Given the description of an element on the screen output the (x, y) to click on. 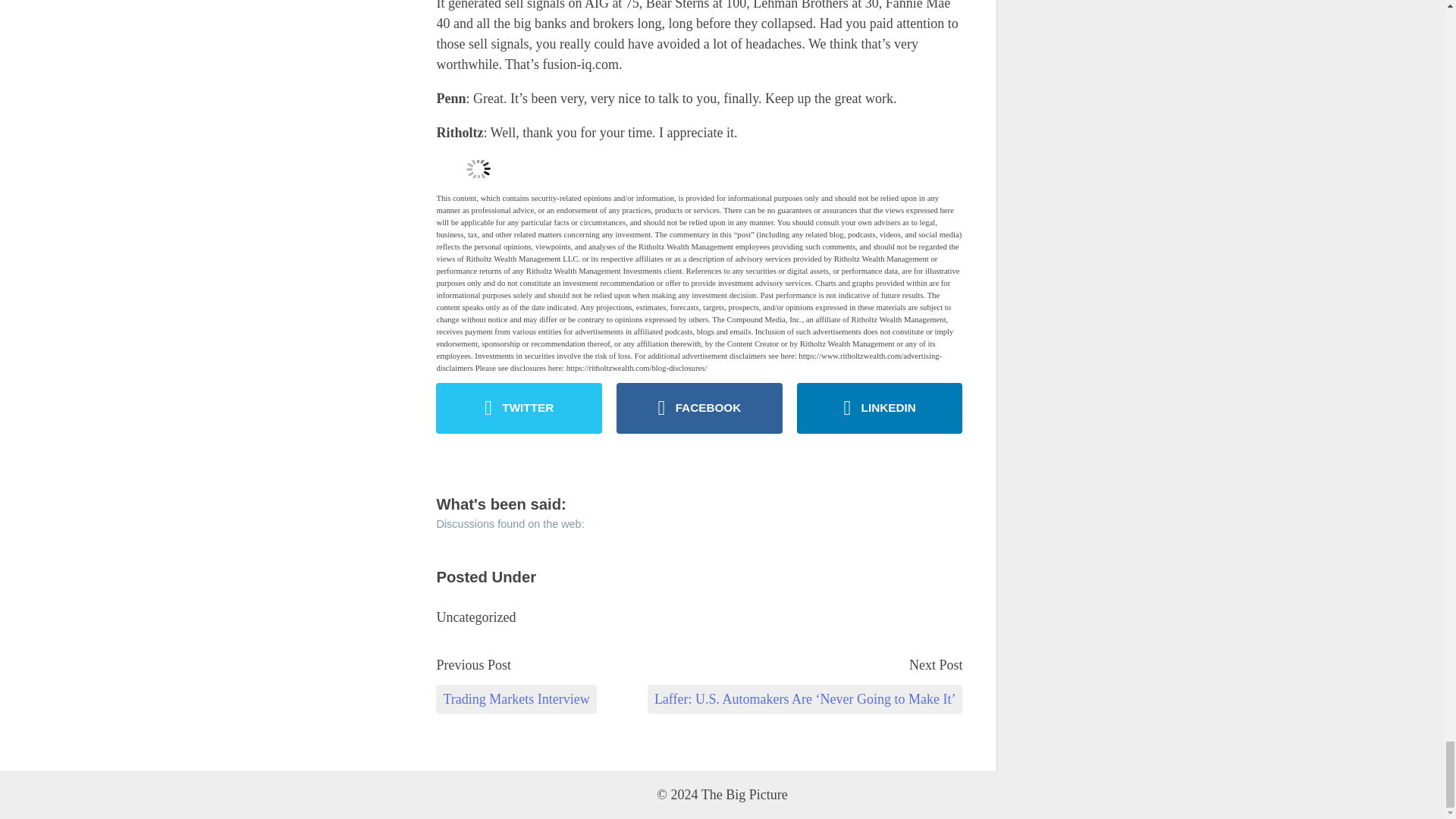
LINKEDIN (879, 408)
FACEBOOK (699, 408)
Trading Markets Interview (515, 698)
TWITTER (518, 408)
